Given the description of an element on the screen output the (x, y) to click on. 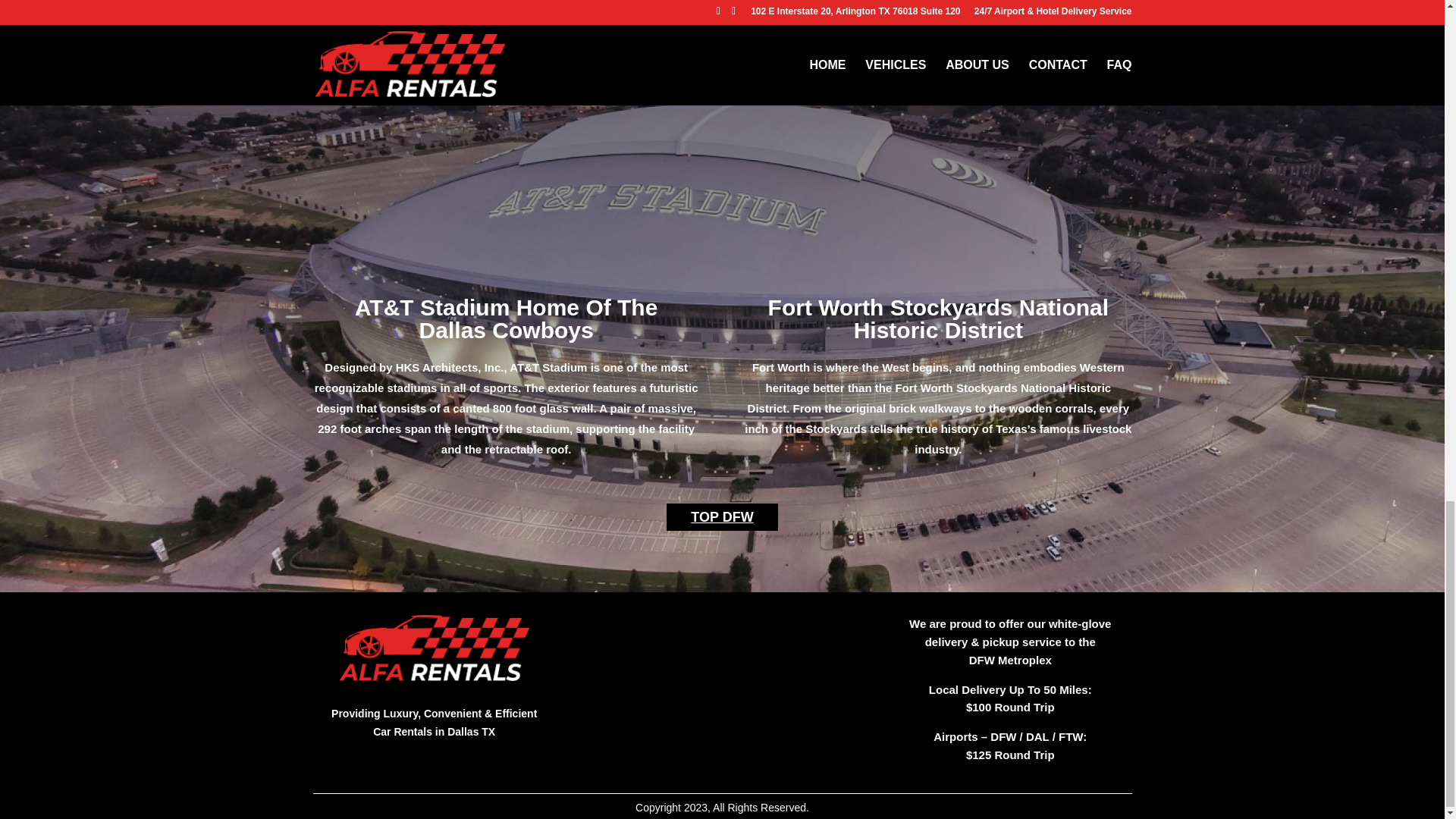
ALFA RENTALS 2 (434, 648)
